Given the description of an element on the screen output the (x, y) to click on. 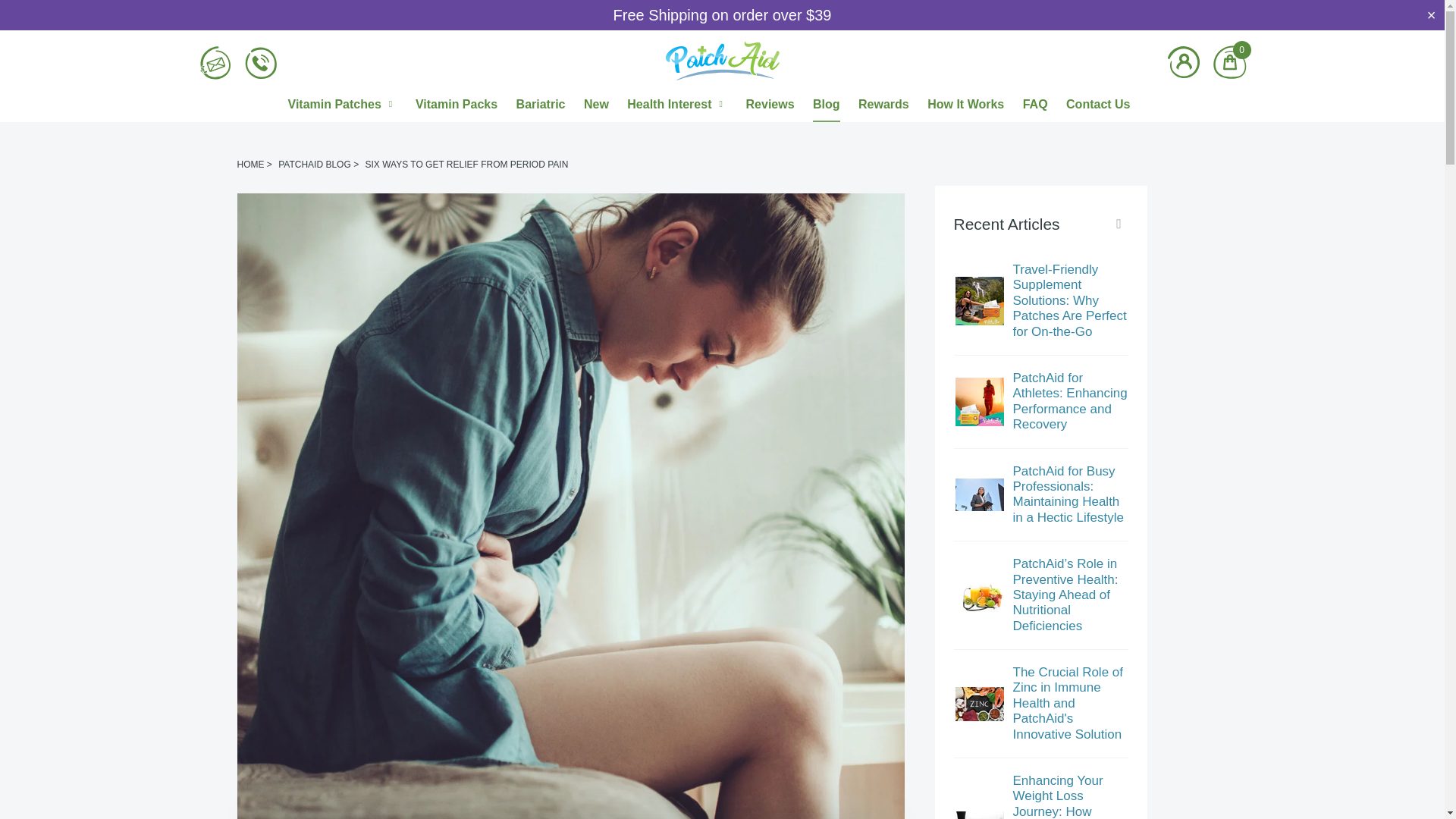
PatchAid (249, 163)
PatchAid Blog (314, 163)
My Account  (1183, 62)
PatchAid (721, 62)
Six Ways to Get Relief from Period Pain (466, 163)
